Given the description of an element on the screen output the (x, y) to click on. 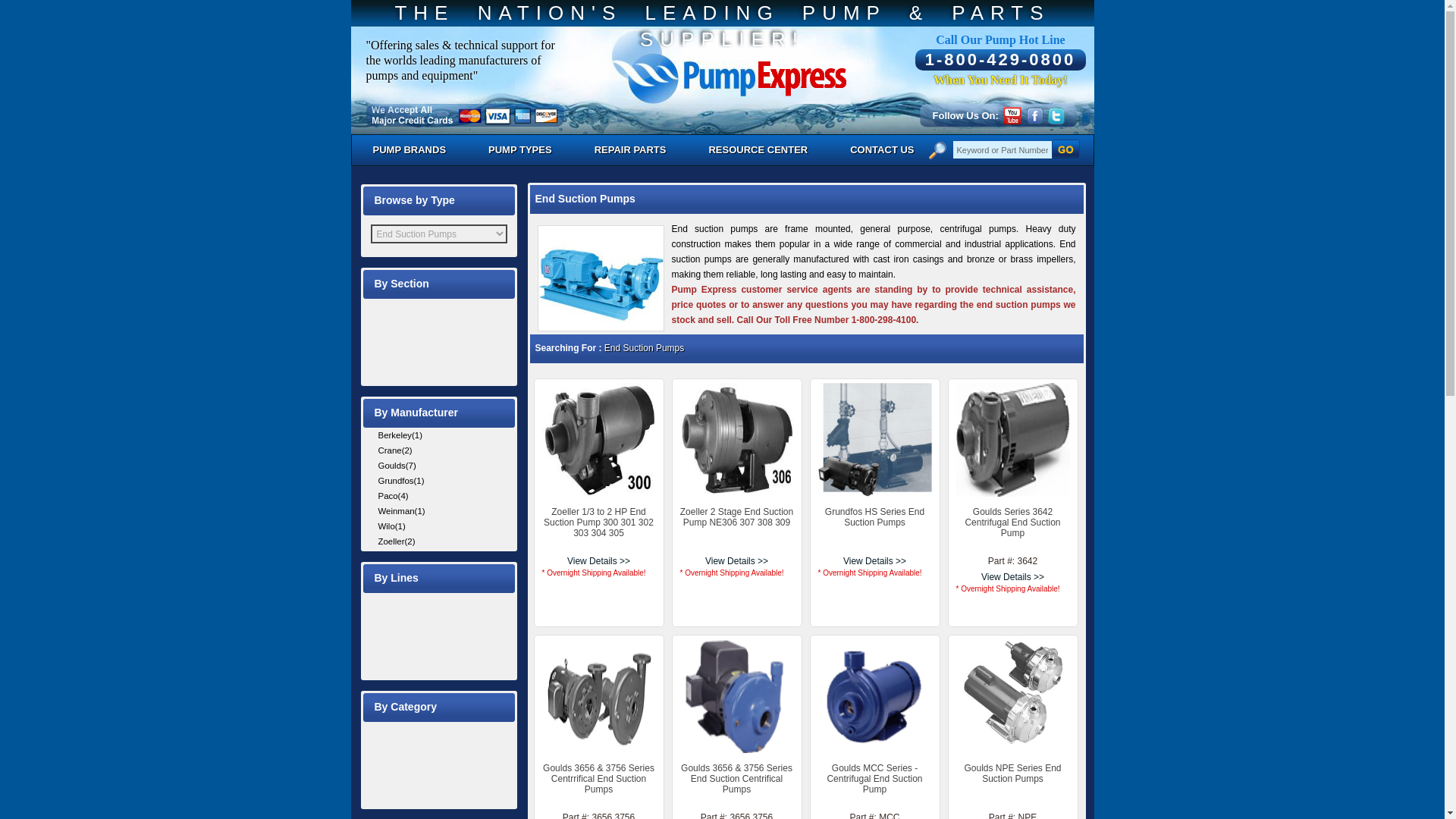
Pumpexpress (729, 66)
PUMP BRANDS (409, 150)
Youtube (1012, 116)
facebook (1034, 116)
twitter (1055, 116)
Keyword or Part Number (1002, 149)
PUMP TYPES (520, 150)
